Given the description of an element on the screen output the (x, y) to click on. 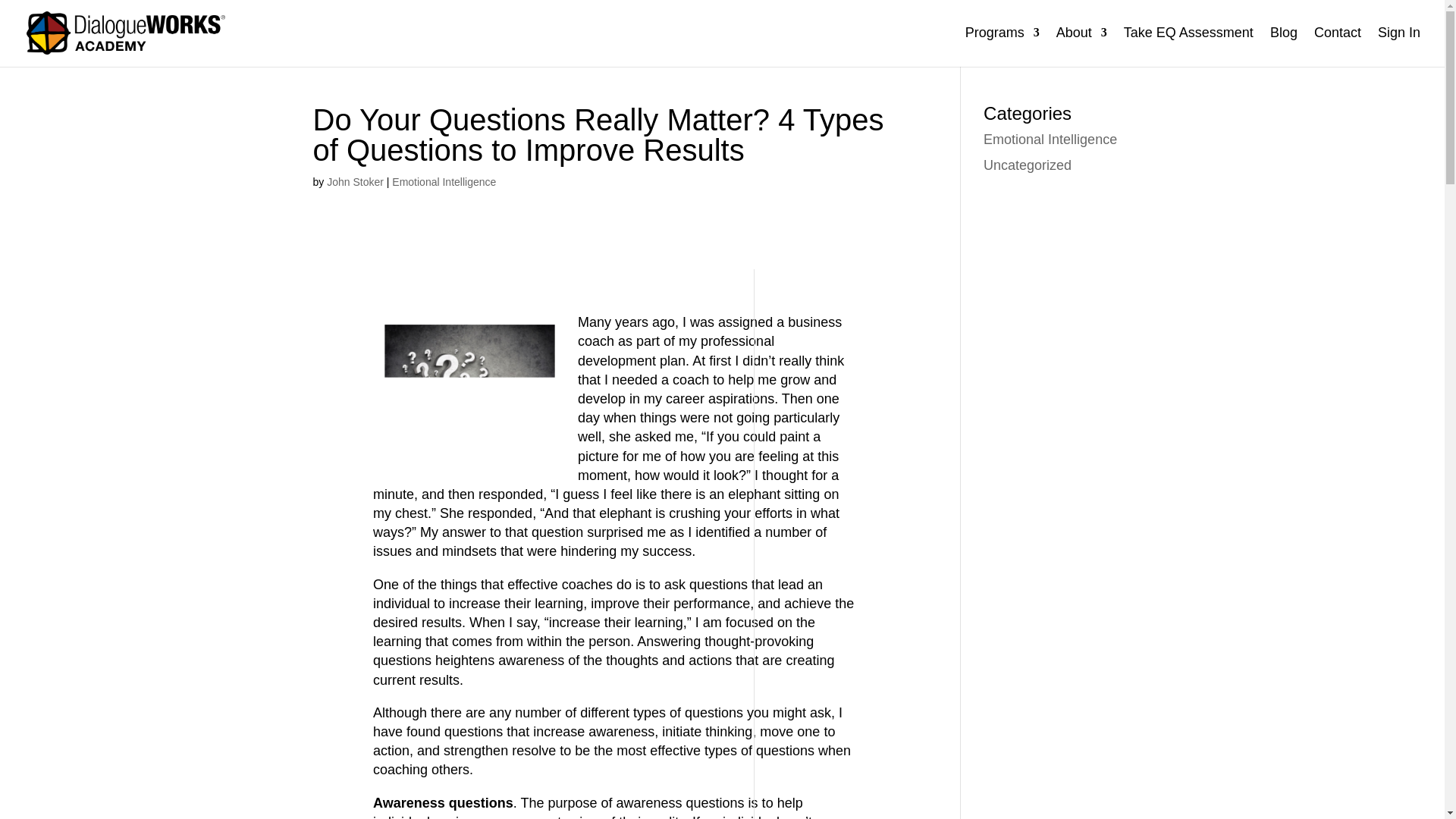
Take EQ Assessment (1188, 45)
Sign In (1399, 45)
John Stoker (355, 182)
Emotional Intelligence (443, 182)
About (1081, 45)
Uncategorized (1027, 165)
Emotional Intelligence (1050, 139)
Contact (1337, 45)
Programs (1002, 45)
Posts by John Stoker (355, 182)
